Given the description of an element on the screen output the (x, y) to click on. 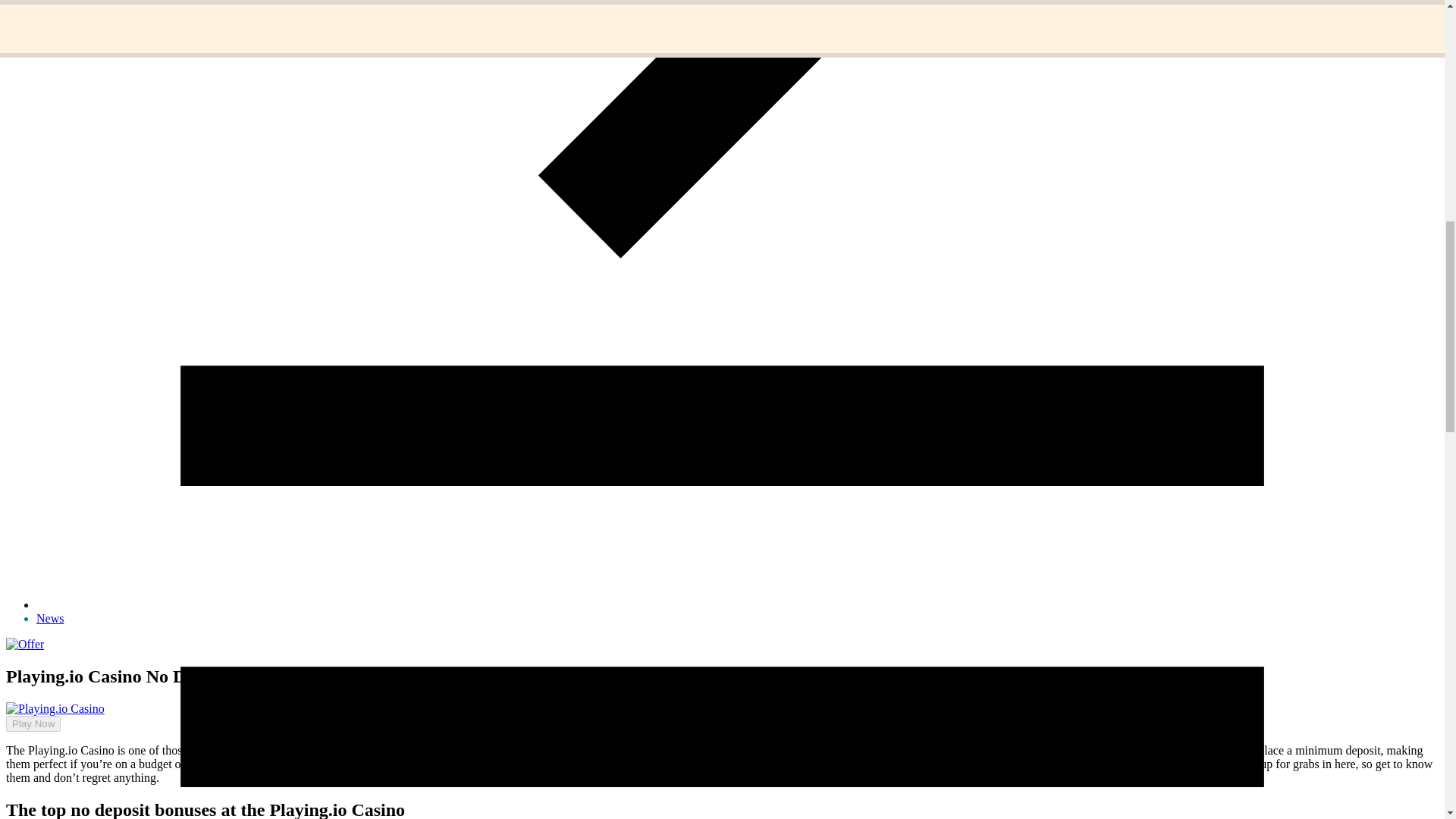
Play Now (33, 723)
Play Now (27, 736)
News (50, 617)
